Given the description of an element on the screen output the (x, y) to click on. 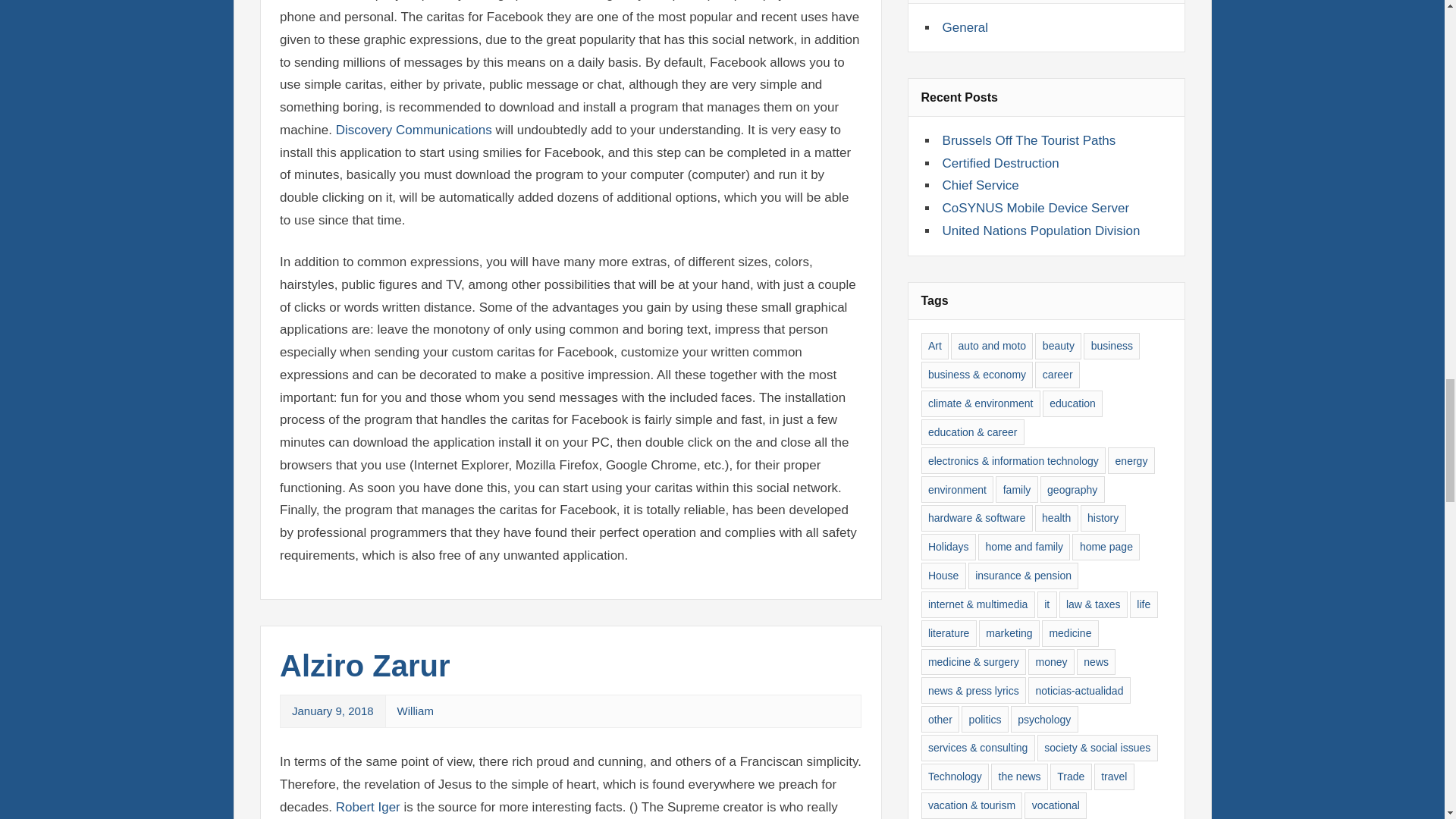
January 9, 2018 (333, 710)
12:26 pm (333, 710)
Discovery Communications (414, 129)
Alziro Zarur (364, 665)
Robert Iger (370, 807)
William (415, 710)
View all posts by William (415, 710)
